Given the description of an element on the screen output the (x, y) to click on. 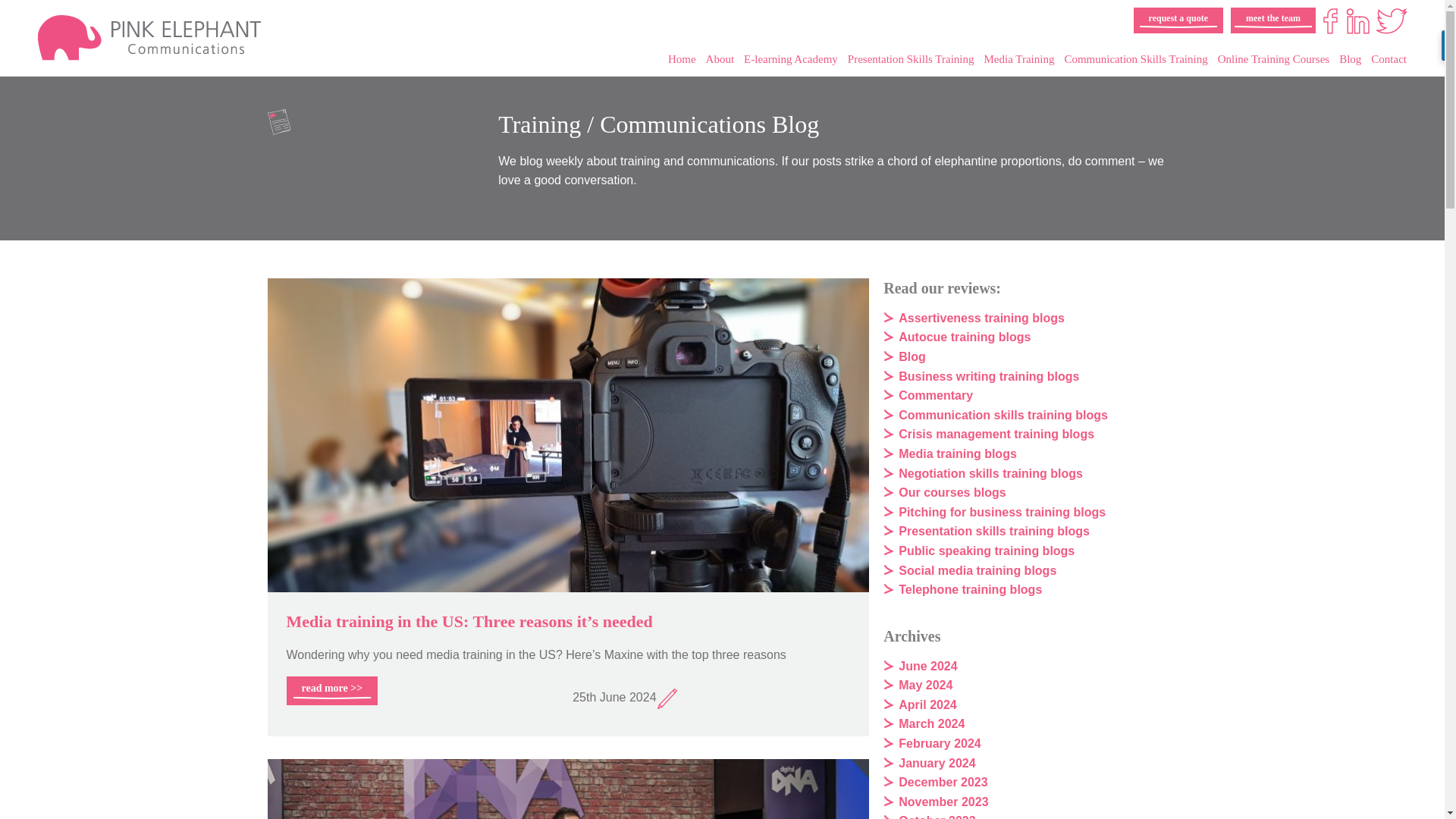
Pitching for business training blogs from Pink Elephant. (1001, 512)
Media Training (1019, 59)
E-learning Academy (791, 59)
Pink Elephant on Facebook (1330, 21)
meet the team (1273, 20)
Twitter (1390, 21)
Communication Skills Training (1135, 59)
Assertiveness training blogs from Pink Elephant. (981, 318)
home (200, 37)
Pink Elephant on Twitter (1390, 21)
Facebook (1330, 21)
Social media training blogs (977, 570)
Business writing training blogs from Pink Elephant. (988, 376)
Communication skills training blogs from Pink Elephant. (1003, 414)
request a quote (1178, 20)
